Given the description of an element on the screen output the (x, y) to click on. 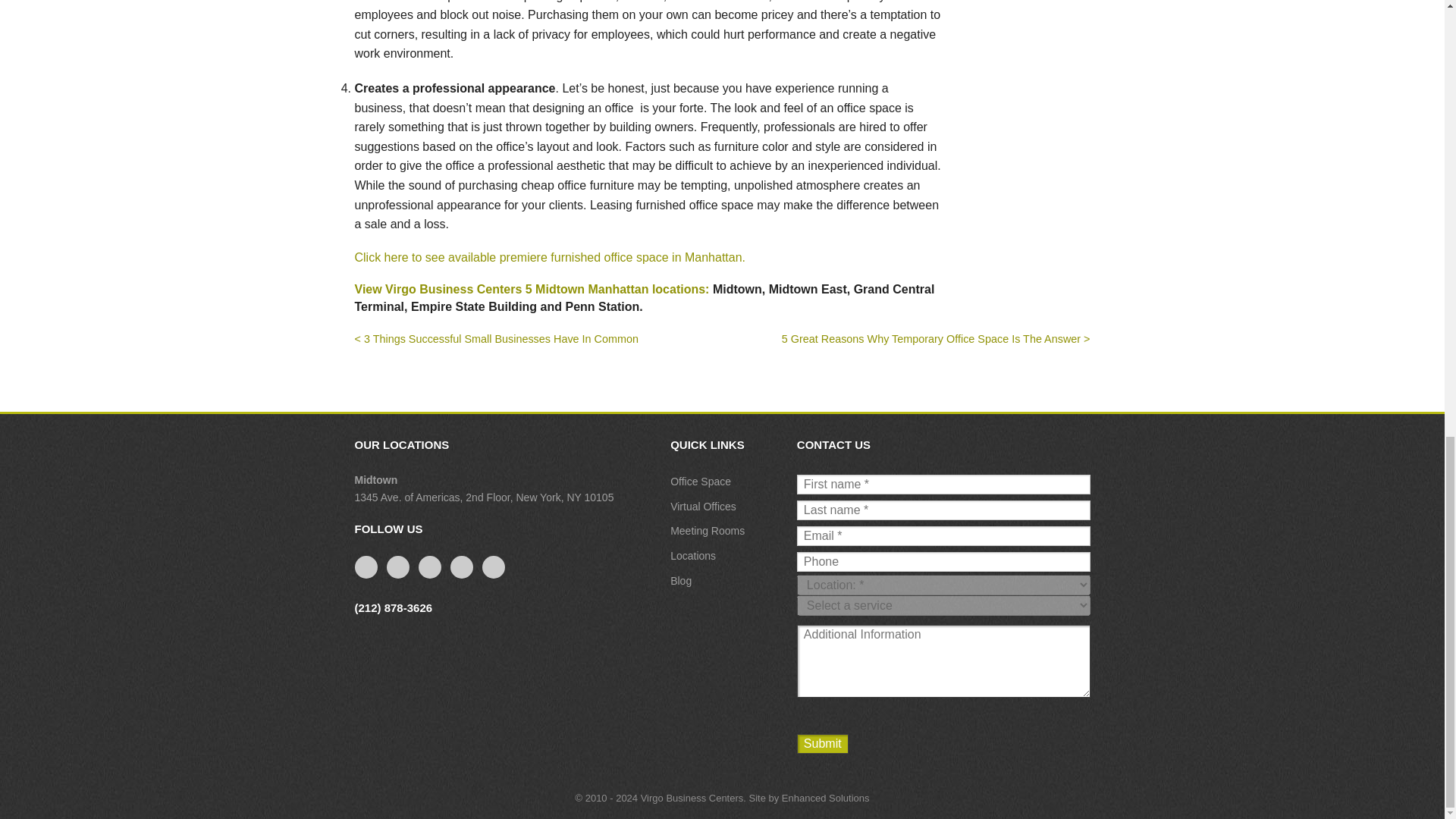
Blog (680, 580)
Submit (822, 743)
Locations (692, 555)
Office Space (699, 481)
View Virgo Business Centers 5 Midtown Manhattan locations: (532, 288)
Meeting Rooms (706, 530)
Submit (822, 743)
Virtual Offices (702, 506)
Midtown (376, 480)
